Given the description of an element on the screen output the (x, y) to click on. 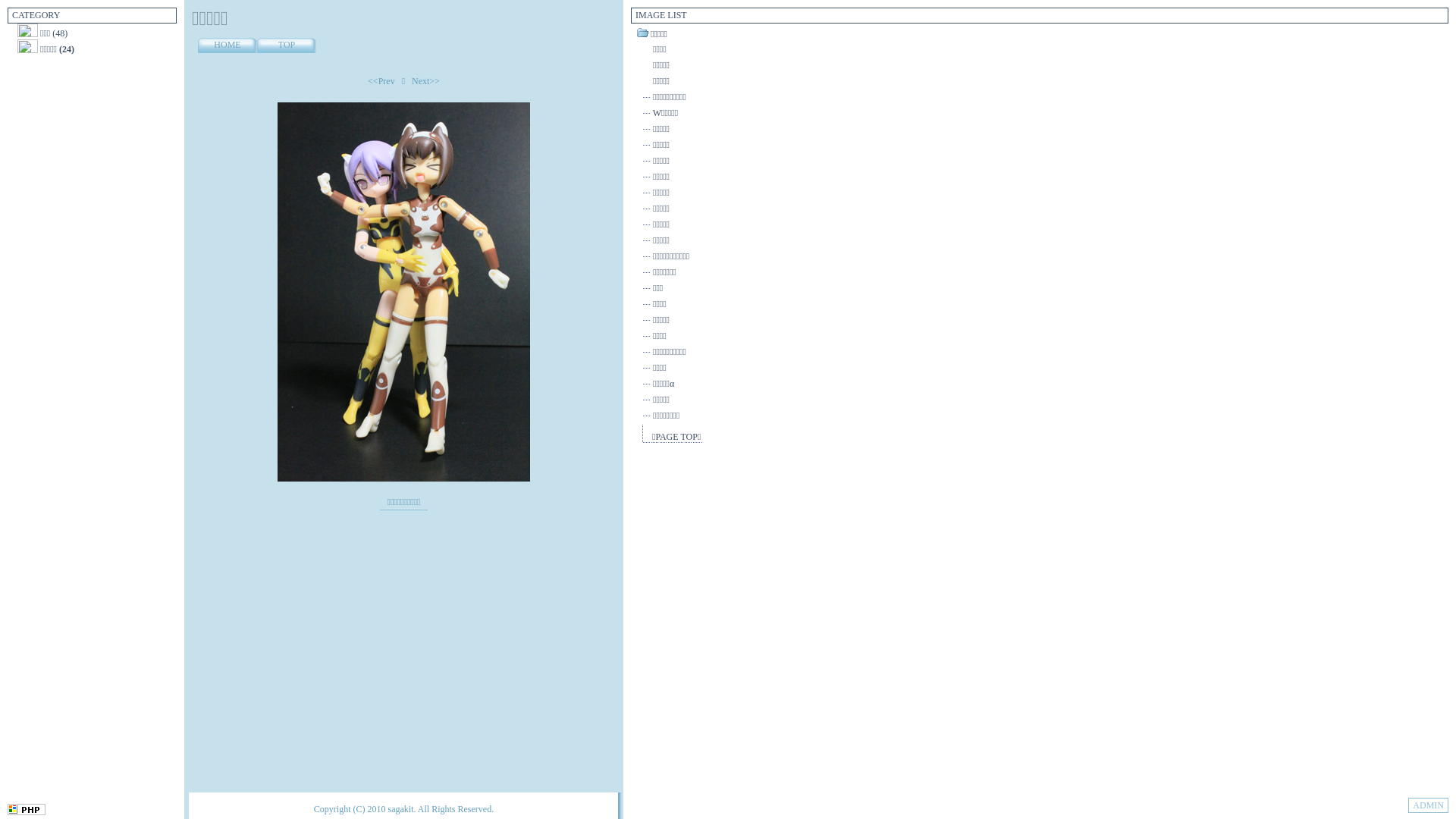
<<Prev Element type: text (381, 80)
ADMIN Element type: text (1428, 804)
HOME Element type: text (227, 45)
Next>> Element type: text (425, 80)
TOP Element type: text (286, 45)
NiconicoPHP Element type: hover (26, 811)
